Given the description of an element on the screen output the (x, y) to click on. 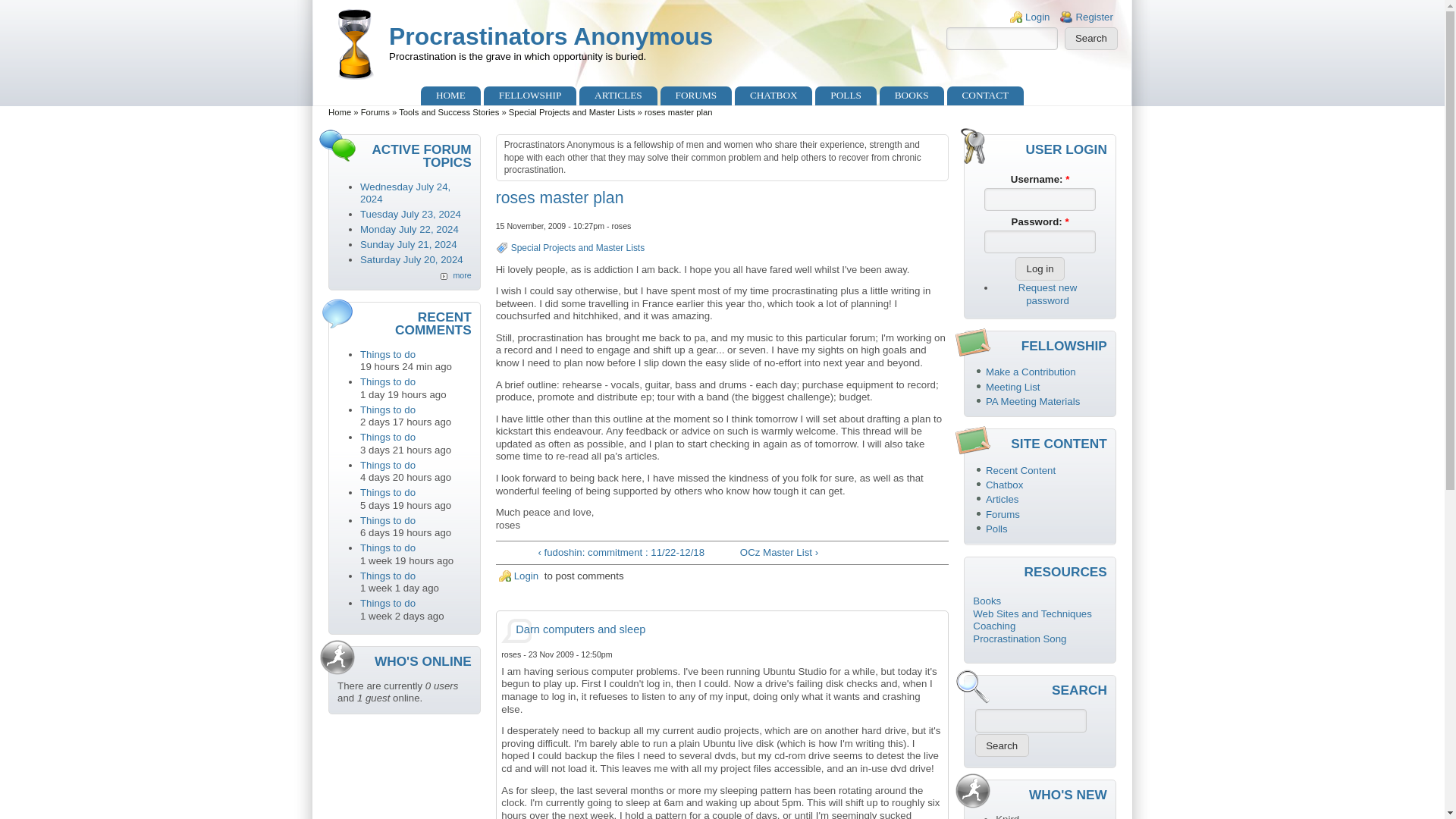
Register (1093, 16)
Login (1037, 16)
Things to do (386, 437)
more (454, 275)
Procrastinators Anonymous (550, 35)
Things to do (386, 547)
Saturday July 20, 2024 (411, 259)
Special Projects and Master Lists (578, 247)
Things to do (386, 575)
FELLOWSHIP (529, 96)
Skip to search (32, 0)
Search (1091, 38)
Search (1091, 38)
Enter the terms you wish to search for. (1002, 38)
